Given the description of an element on the screen output the (x, y) to click on. 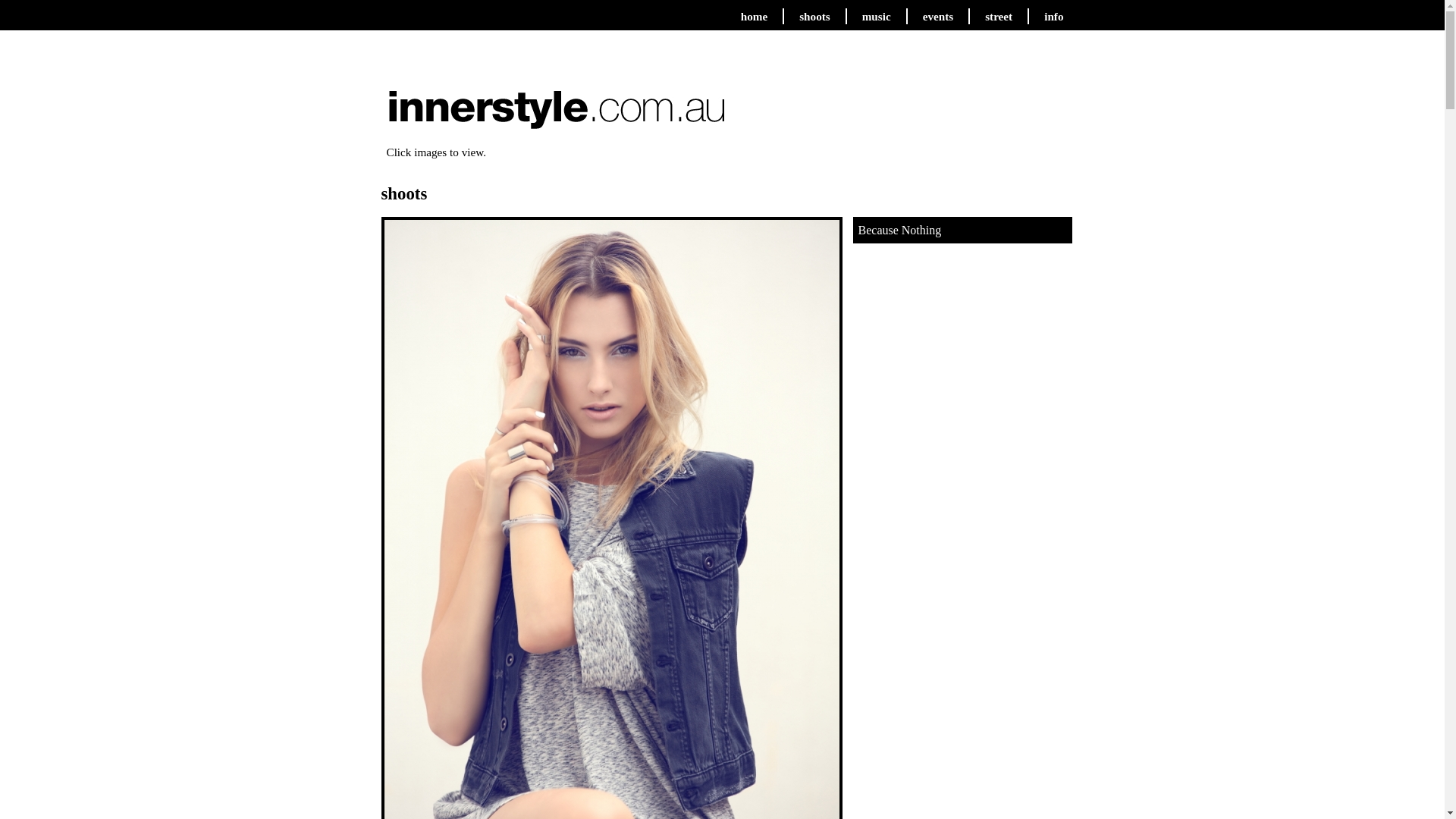
shoots Element type: text (814, 15)
music Element type: text (876, 15)
events Element type: text (937, 15)
info Element type: text (1053, 15)
home Element type: text (753, 15)
innerstyle.com.au Element type: hover (555, 121)
Because Nothing Element type: text (899, 229)
street Element type: text (998, 15)
